Given the description of an element on the screen output the (x, y) to click on. 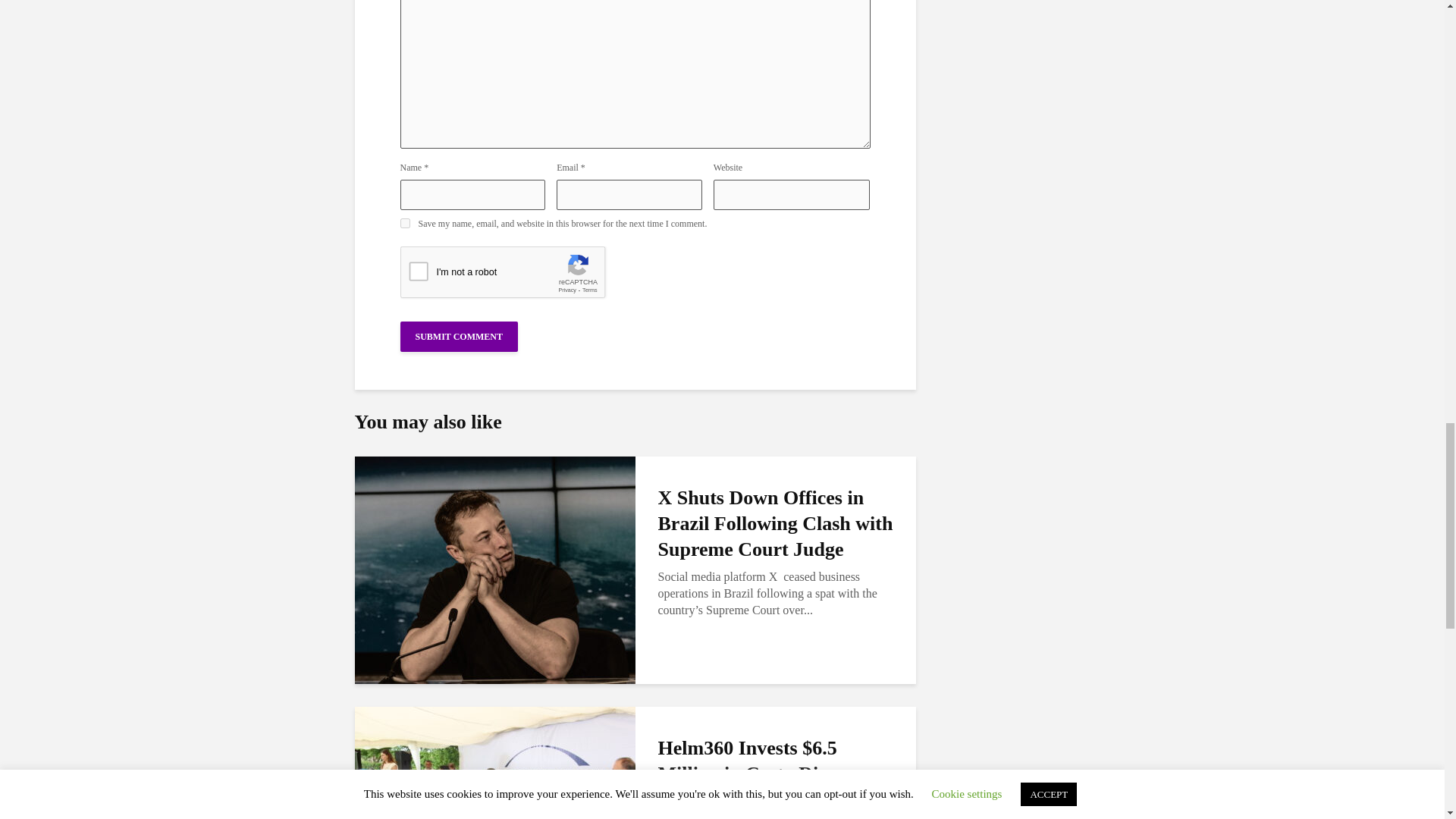
Submit Comment (459, 336)
reCAPTCHA (515, 275)
yes (405, 223)
